Given the description of an element on the screen output the (x, y) to click on. 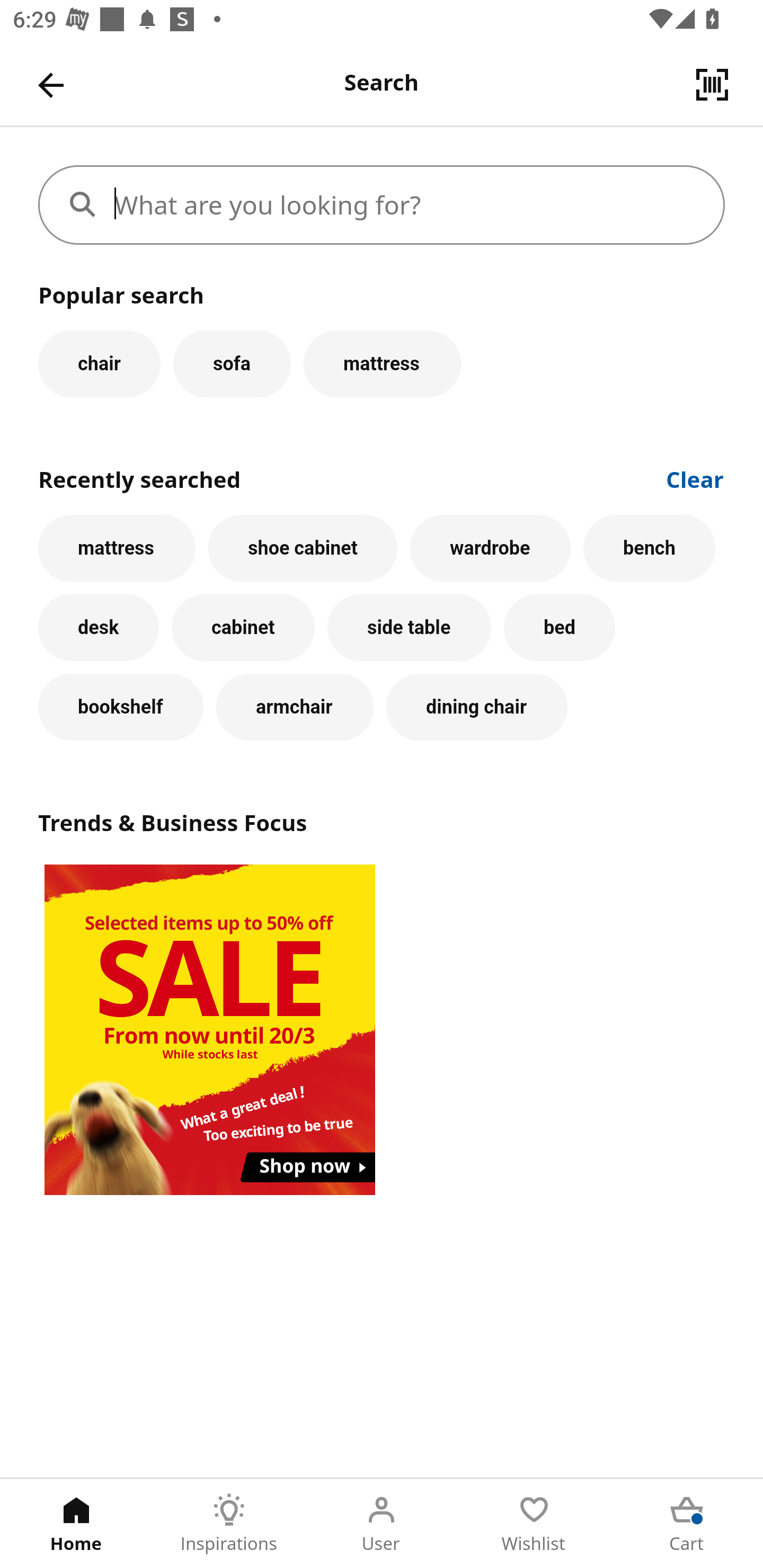
chair (99, 363)
sofa (231, 363)
mattress (381, 363)
Clear (695, 477)
mattress (116, 547)
shoe cabinet (302, 547)
wardrobe (490, 547)
bench (649, 547)
desk (98, 627)
cabinet (242, 627)
side table (409, 627)
bed (558, 627)
bookshelf (120, 707)
armchair (294, 707)
dining chair (476, 707)
Home
Tab 1 of 5 (76, 1522)
Inspirations
Tab 2 of 5 (228, 1522)
User
Tab 3 of 5 (381, 1522)
Wishlist
Tab 4 of 5 (533, 1522)
Cart
Tab 5 of 5 (686, 1522)
